Given the description of an element on the screen output the (x, y) to click on. 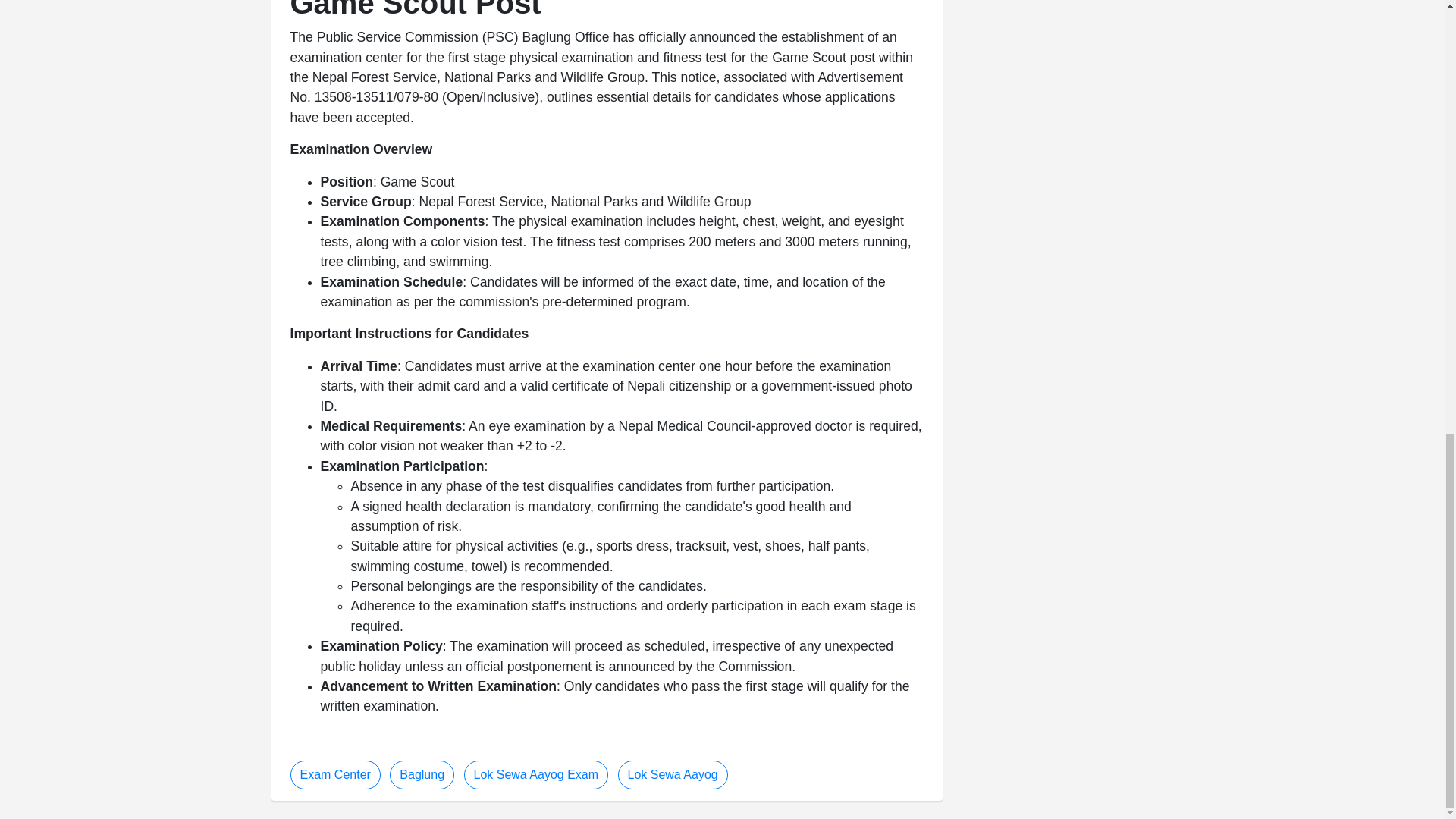
Lok Sewa Aayog (671, 774)
Baglung (422, 774)
Exam Center (334, 774)
Lok Sewa Aayog Exam (536, 774)
